Given the description of an element on the screen output the (x, y) to click on. 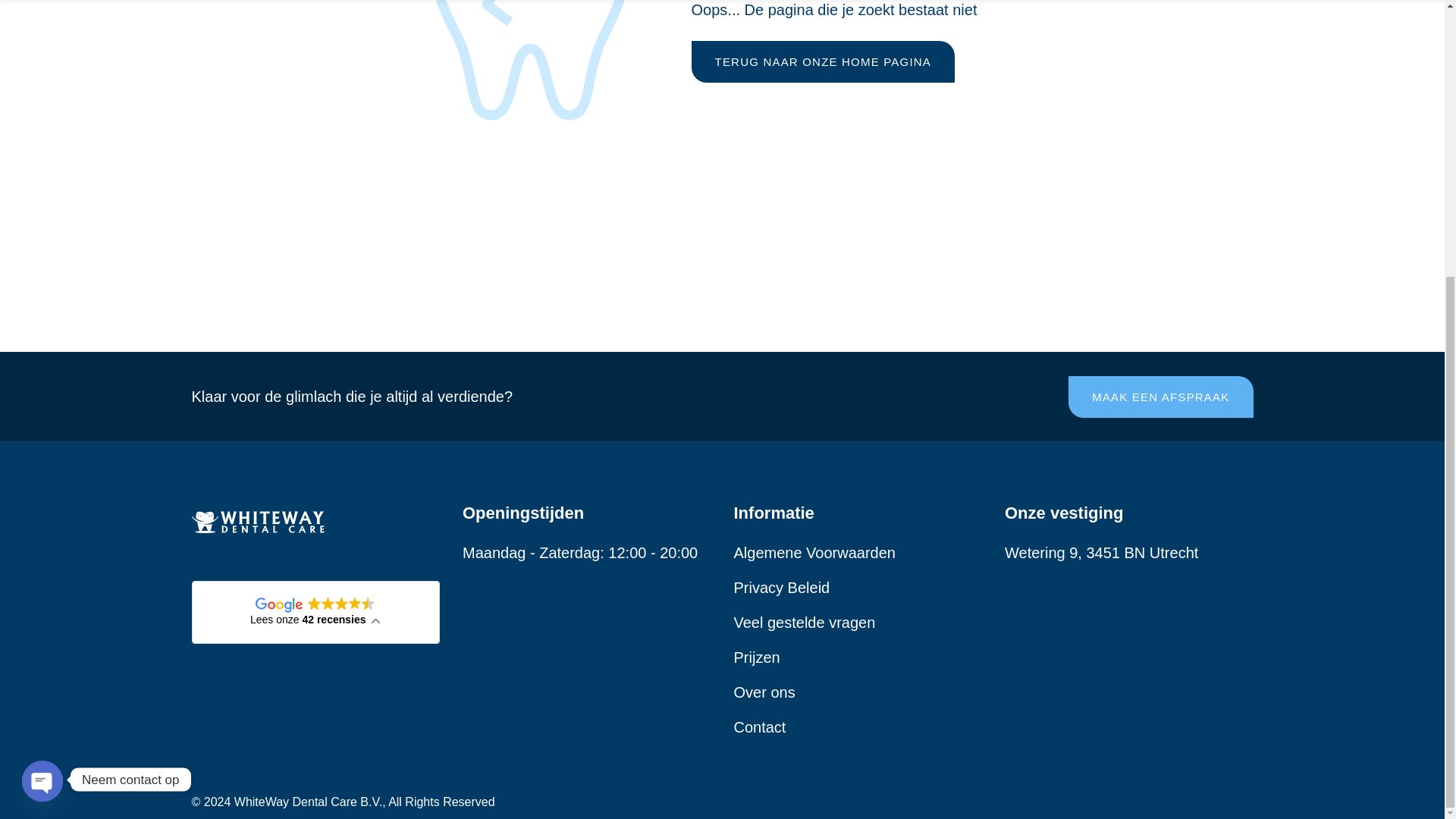
Veel gestelde vragen (804, 622)
Algemene Voorwaarden (814, 552)
Privacy Beleid (781, 587)
MAAK EEN AFSPRAAK (1160, 396)
Contact (759, 727)
TERUG NAAR ONZE HOME PAGINA (823, 61)
Lees onze 42 recensies (314, 611)
Over ons (763, 692)
Prijzen (756, 657)
